Given the description of an element on the screen output the (x, y) to click on. 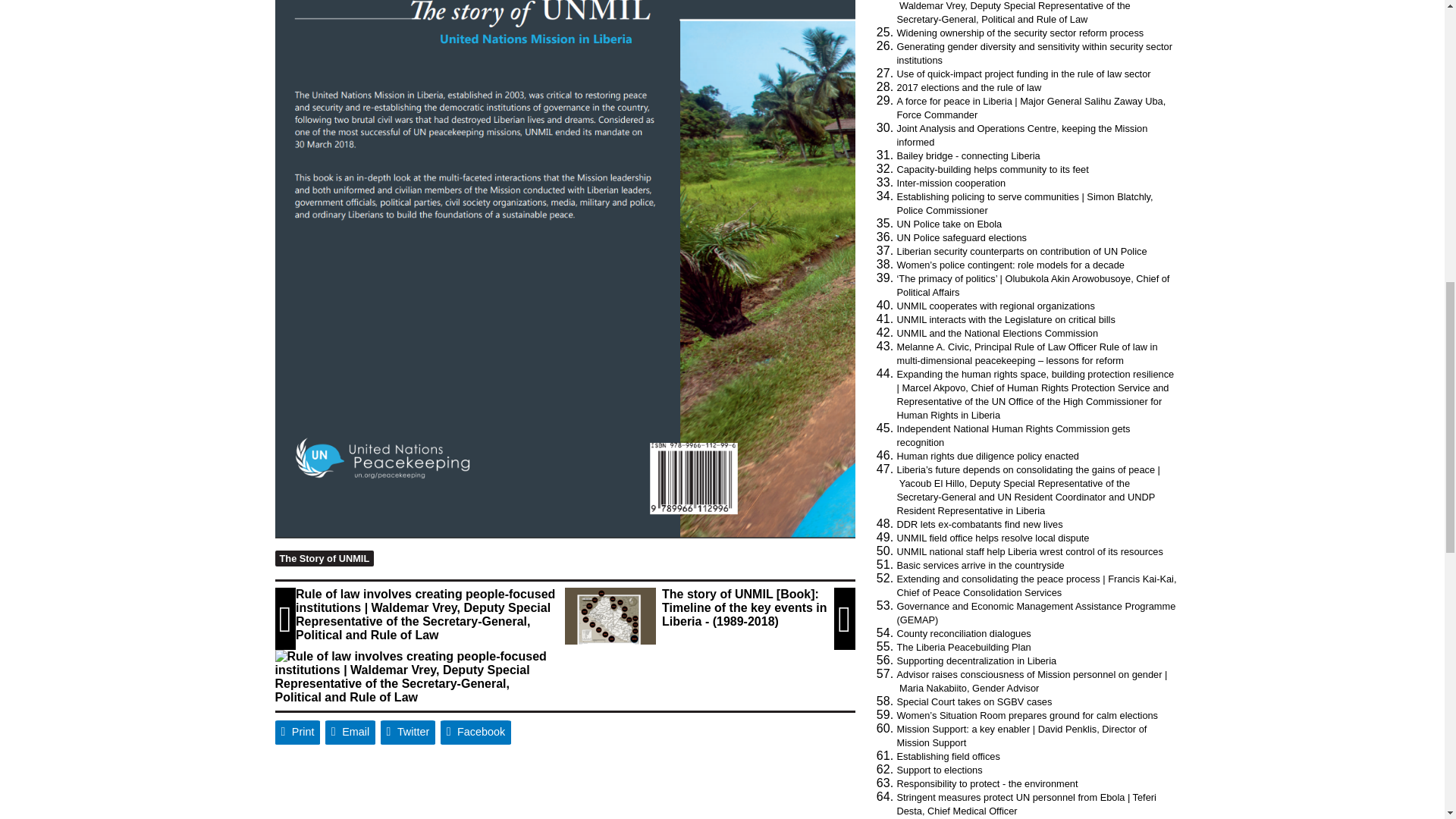
Print (297, 732)
Twitter (407, 732)
Facebook (476, 732)
Email (349, 732)
